Given the description of an element on the screen output the (x, y) to click on. 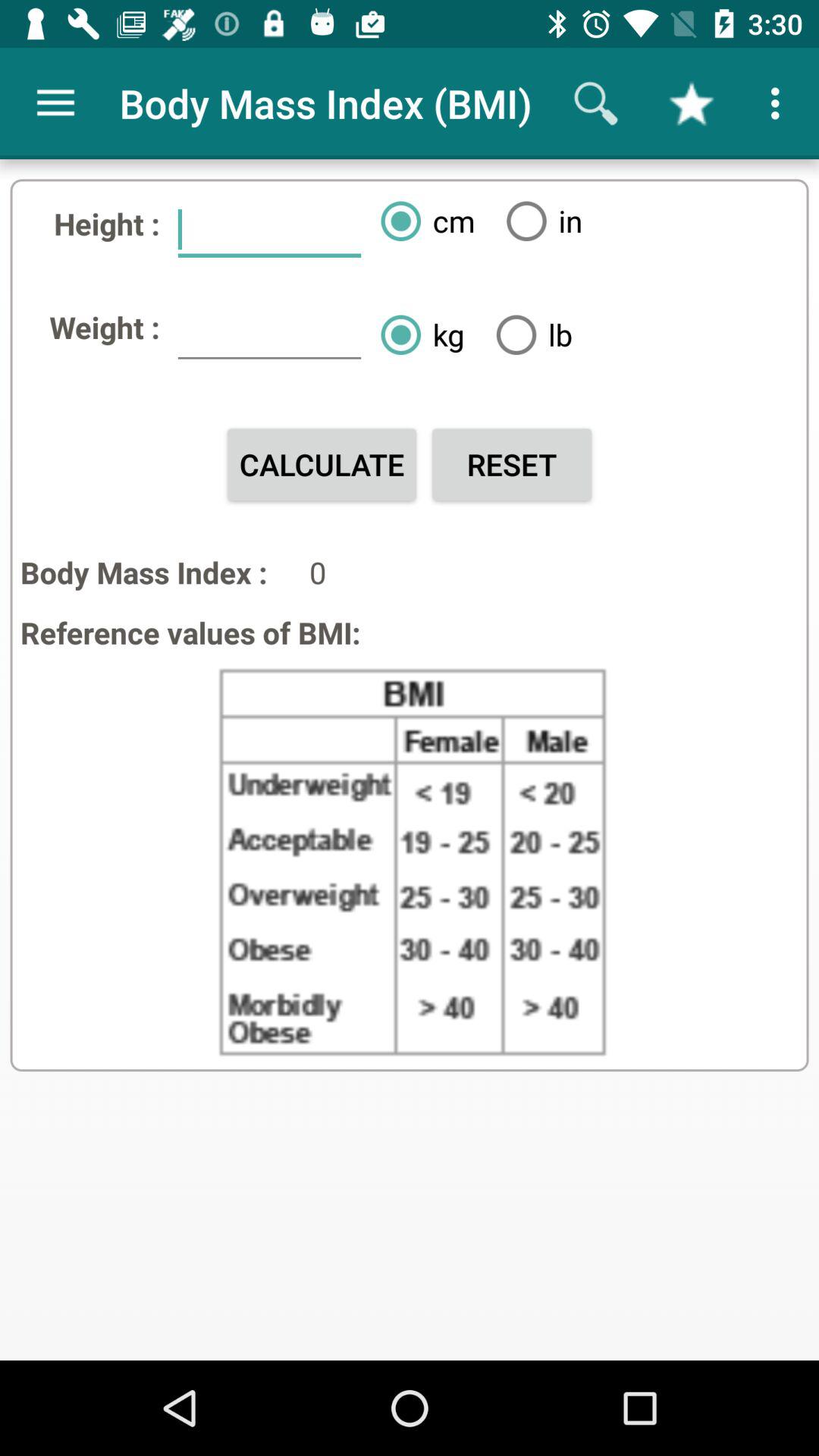
click icon to the right of the kg item (528, 334)
